Given the description of an element on the screen output the (x, y) to click on. 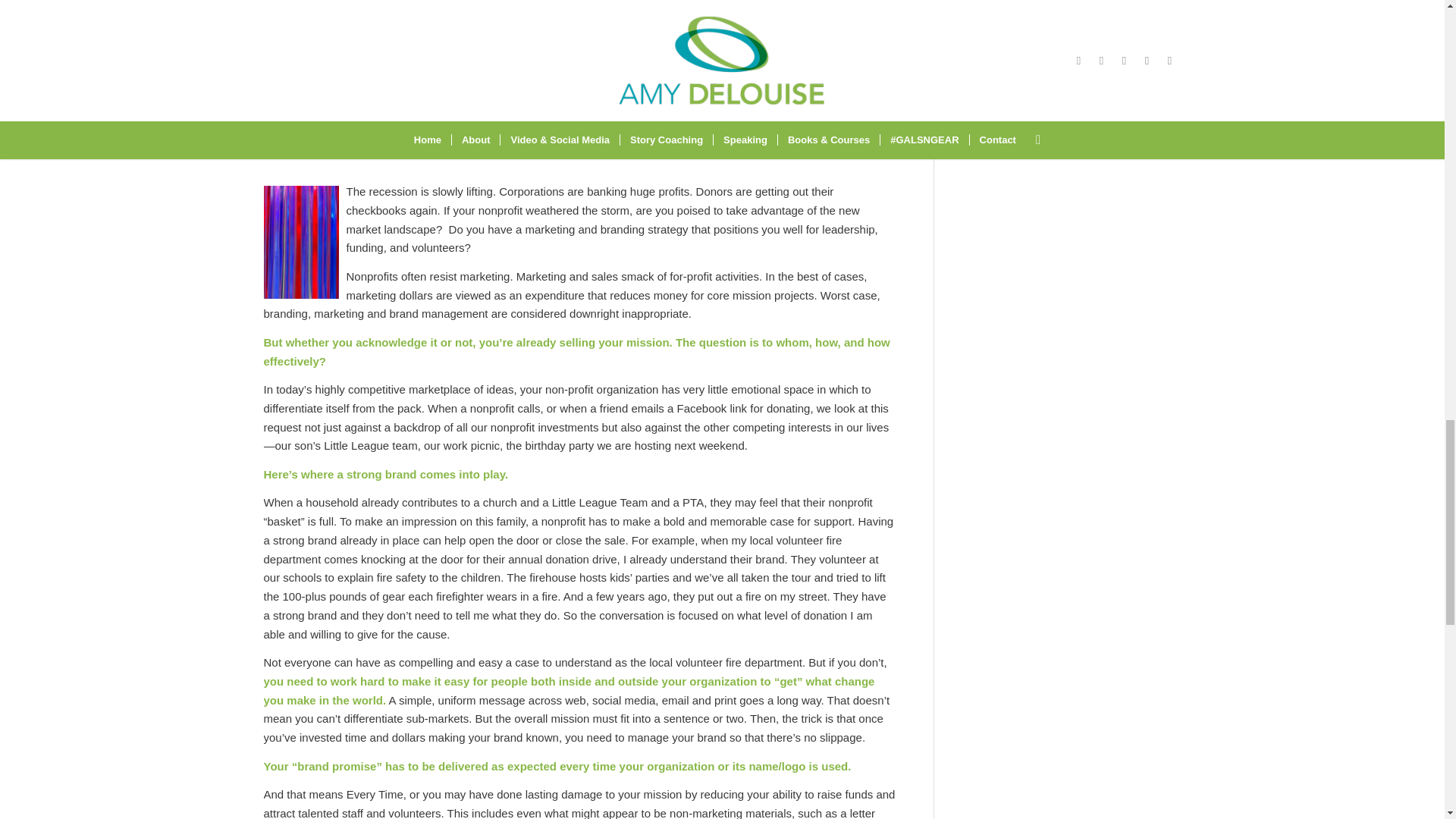
Permanent Link: Nonprofit Brands (388, 118)
